Given the description of an element on the screen output the (x, y) to click on. 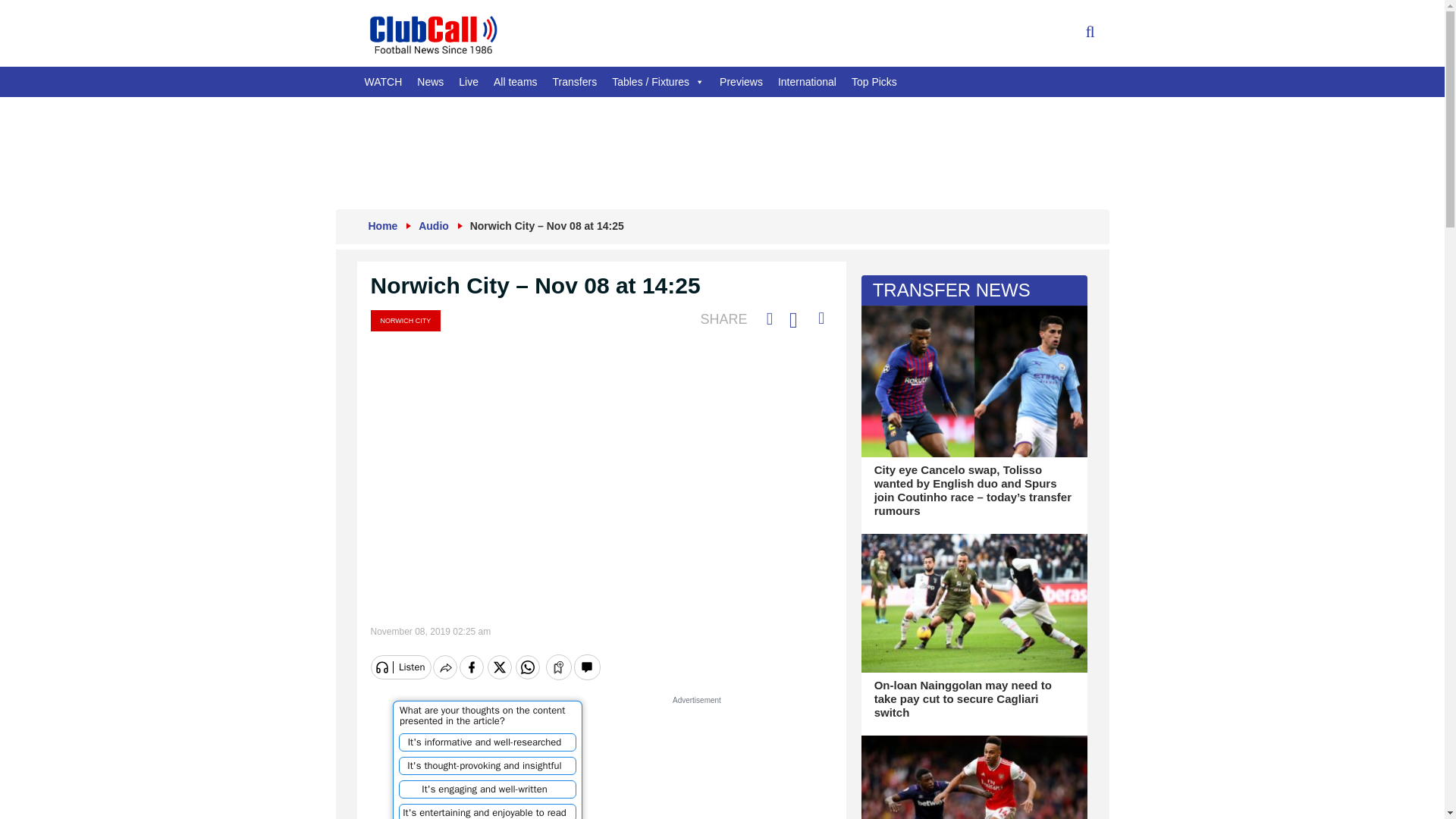
Live (468, 81)
All teams (515, 81)
Audio (433, 225)
News (430, 81)
Top Picks (874, 81)
Vuukle Sharebar Widget (600, 665)
WATCH (382, 81)
International (807, 81)
Transfers (574, 81)
Vuukle Quiz Widget (487, 760)
Previews (740, 81)
Home (382, 225)
